Given the description of an element on the screen output the (x, y) to click on. 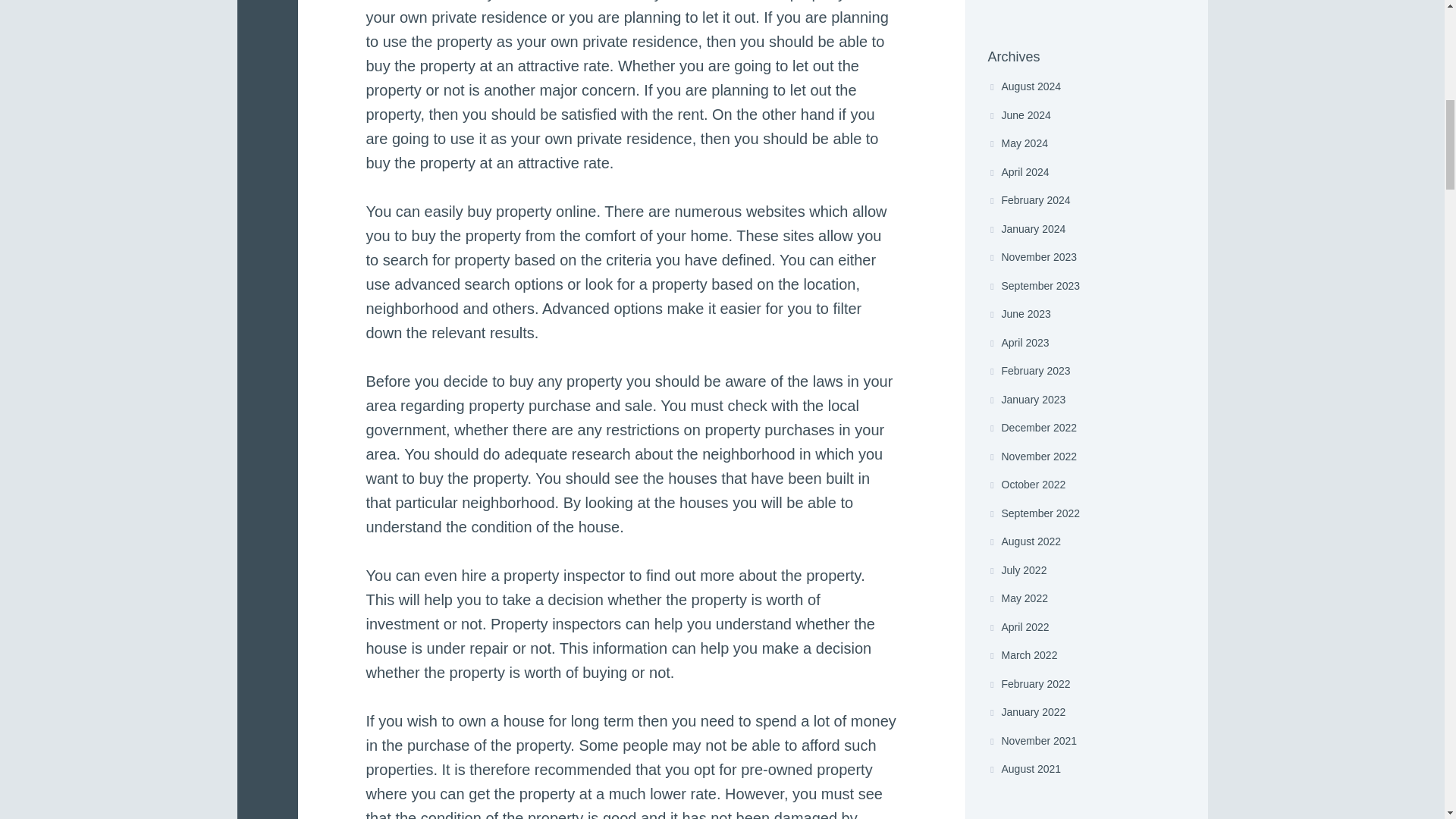
August 2022 (1024, 541)
February 2023 (1028, 370)
May 2024 (1016, 143)
December 2022 (1032, 427)
April 2023 (1017, 342)
January 2024 (1026, 228)
September 2023 (1033, 285)
July 2022 (1016, 570)
June 2023 (1018, 313)
November 2023 (1032, 256)
